Given the description of an element on the screen output the (x, y) to click on. 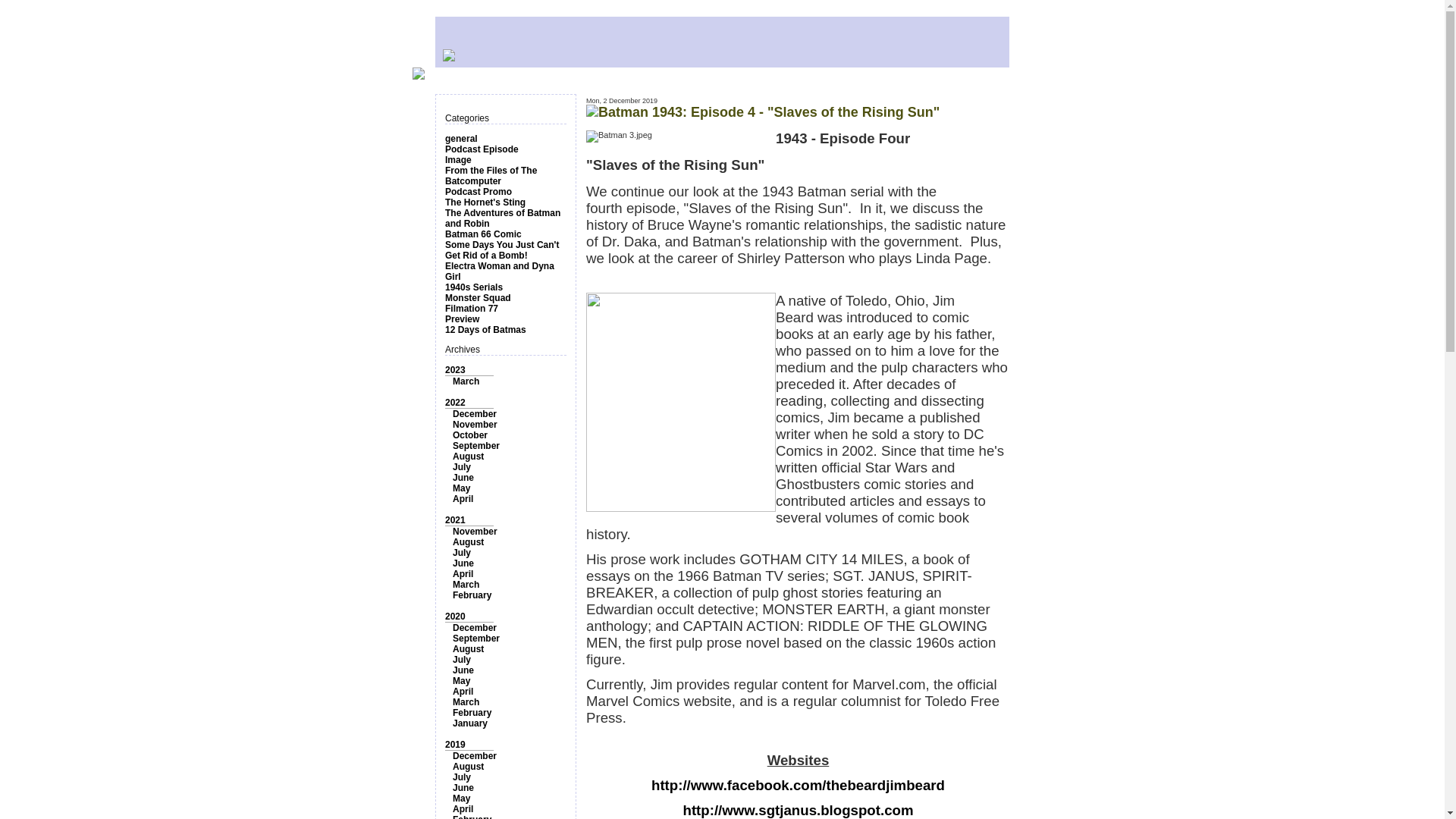
2022 (455, 402)
Podcast Promo (478, 191)
April (462, 498)
October (469, 434)
Some Days You Just Can't Get Rid of a Bomb! (502, 250)
August (467, 456)
June (463, 477)
2021 (455, 520)
February (472, 594)
March (465, 380)
